Given the description of an element on the screen output the (x, y) to click on. 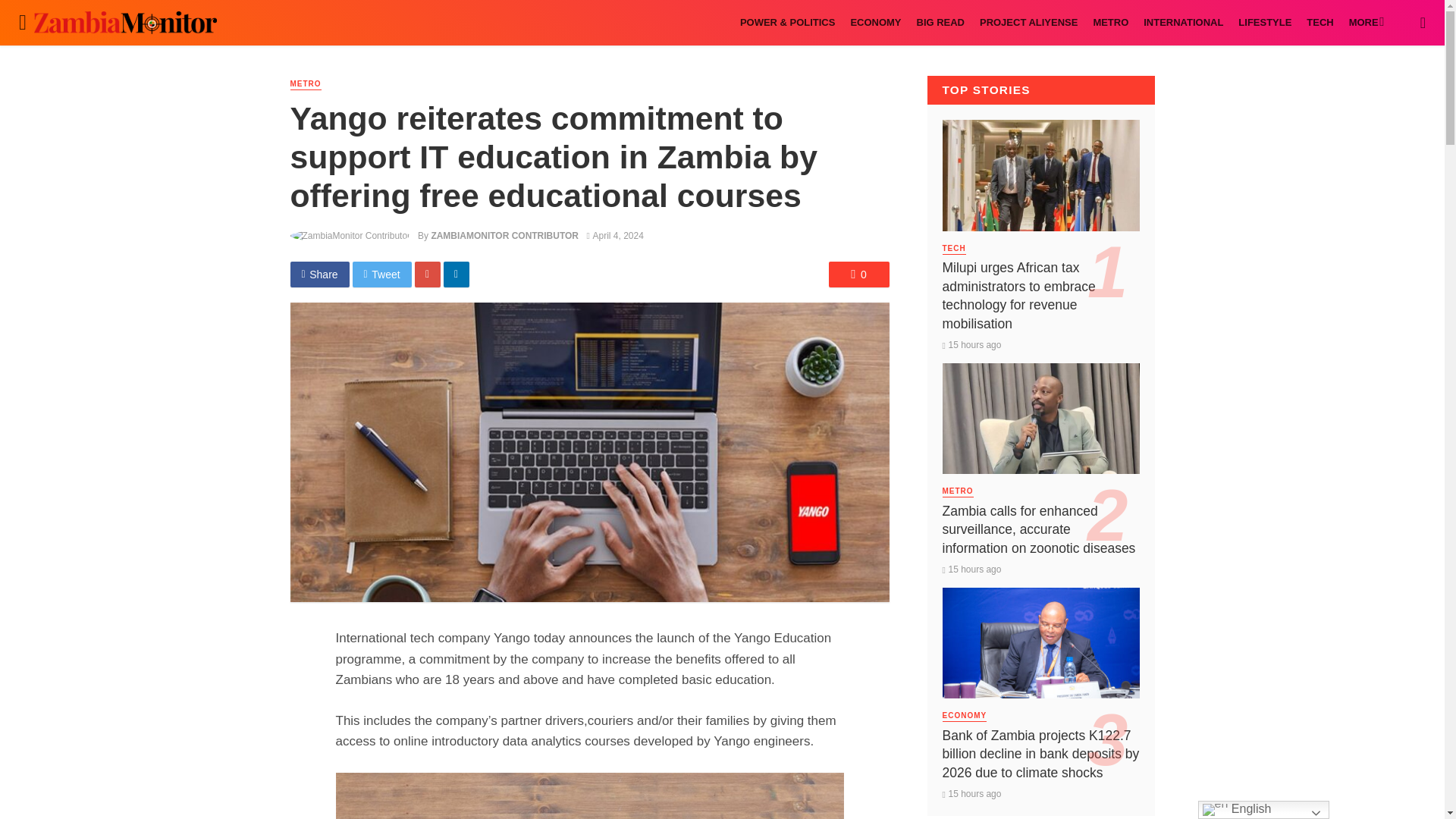
BIG READ (939, 22)
LIFESTYLE (1264, 22)
METRO (1109, 22)
ECONOMY (875, 22)
INTERNATIONAL (1182, 22)
PROJECT ALIYENSE (1028, 22)
TECH (1319, 22)
